Given the description of an element on the screen output the (x, y) to click on. 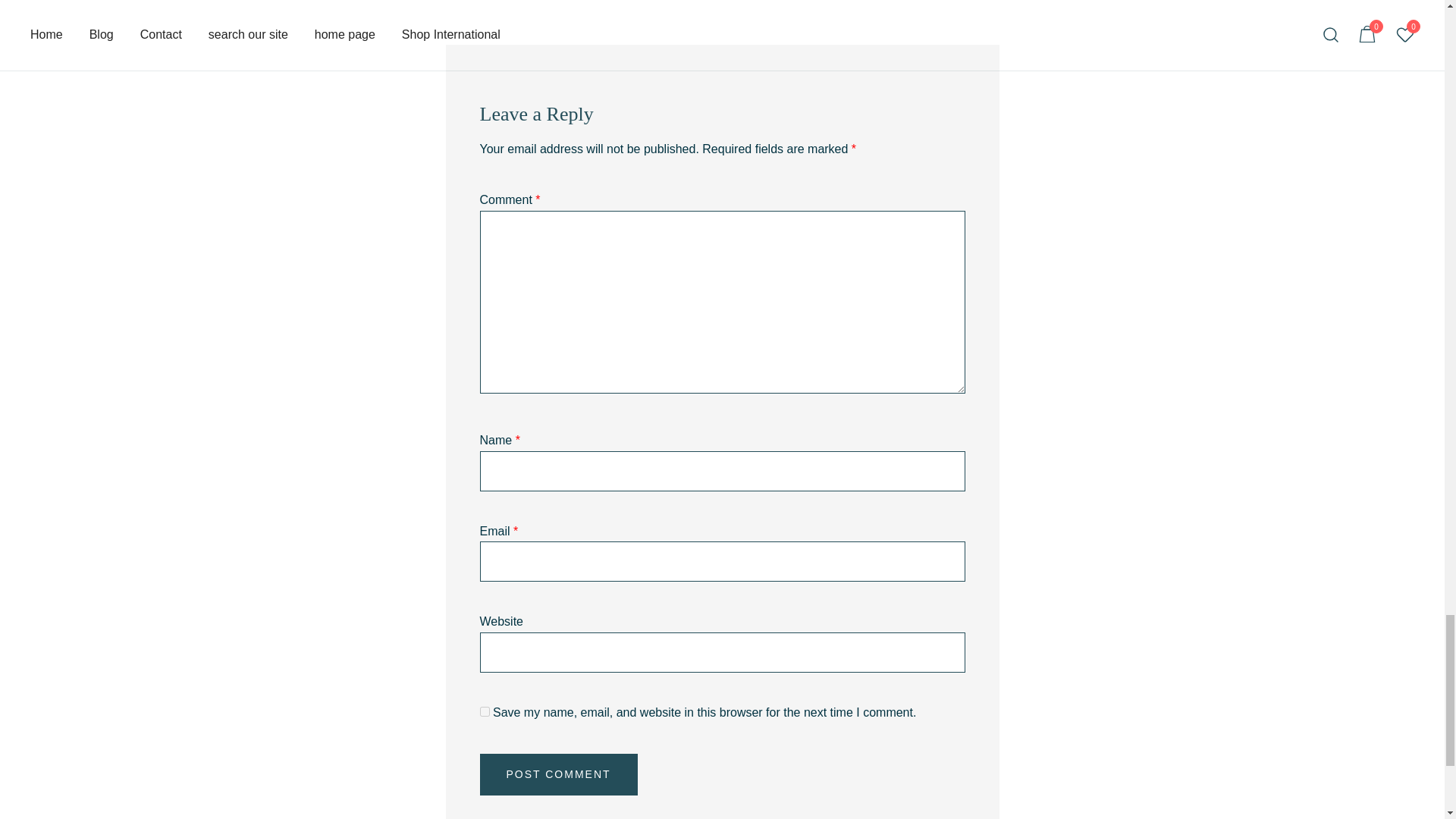
Post Comment (558, 774)
yes (484, 711)
